Given the description of an element on the screen output the (x, y) to click on. 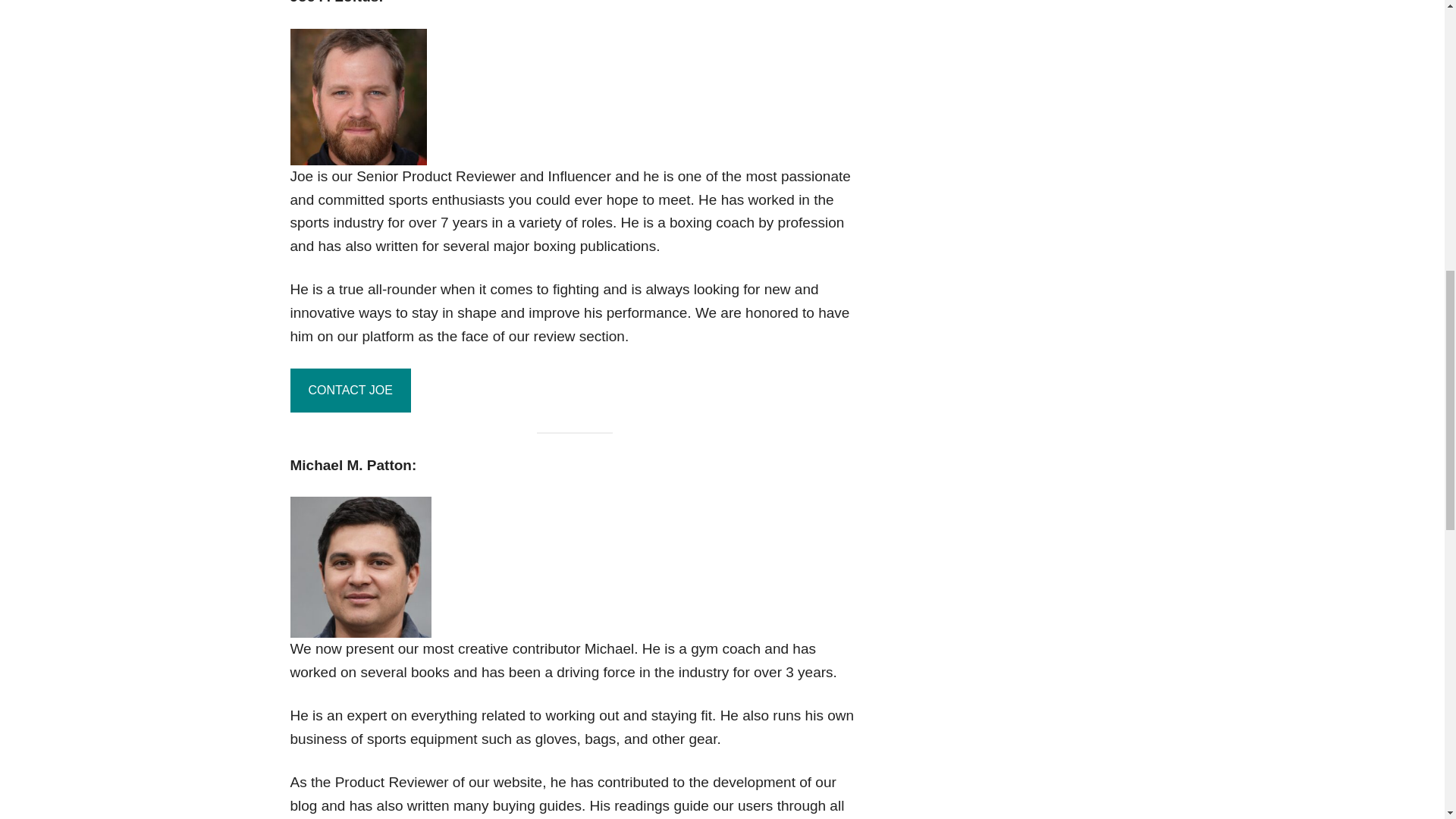
CONTACT JOE (349, 390)
